Given the description of an element on the screen output the (x, y) to click on. 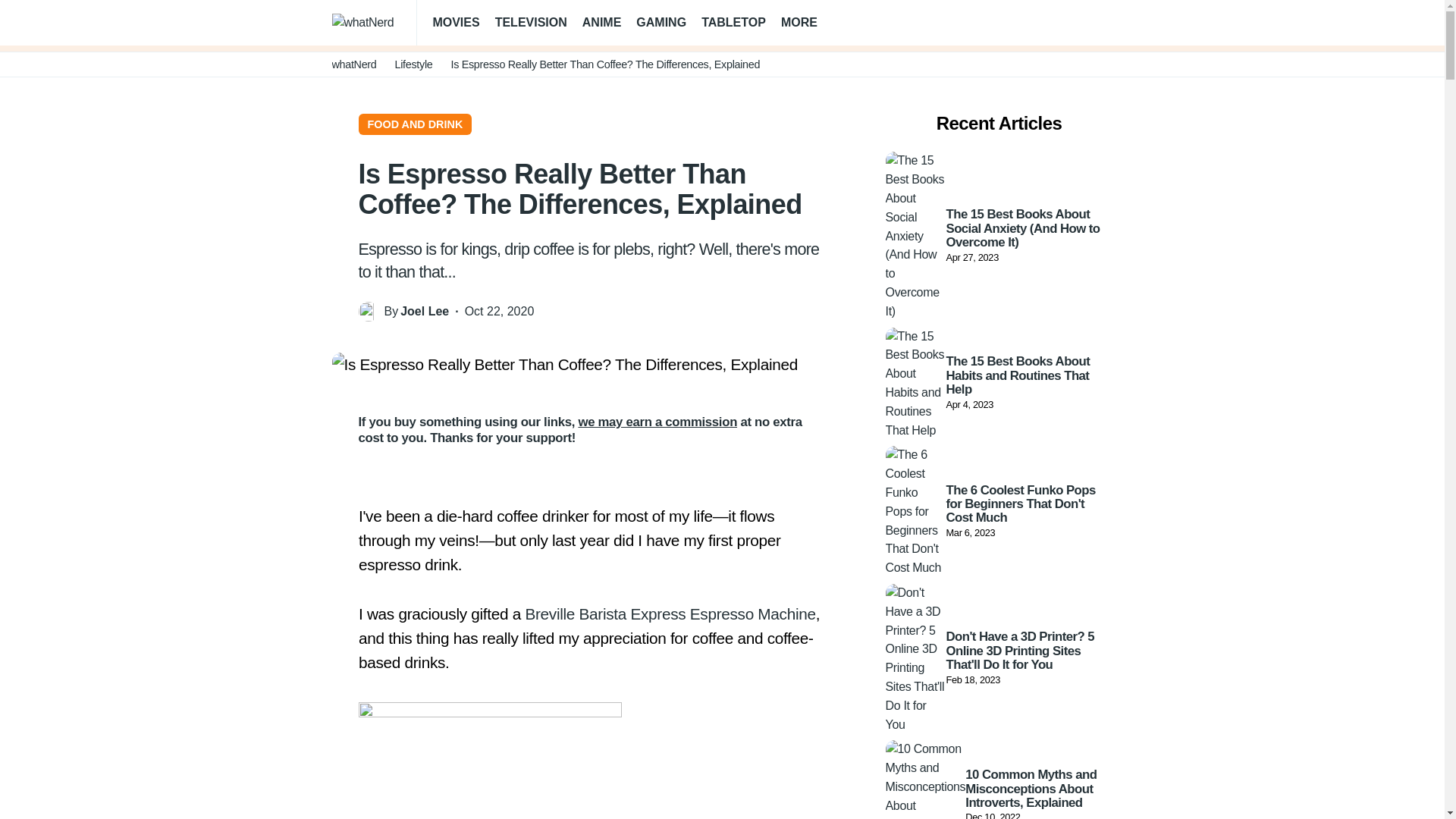
MOVIES (455, 22)
whatNerd (354, 64)
View all posts by Joel Lee (424, 311)
TELEVISION (531, 22)
MORE (805, 22)
TABLETOP (733, 22)
ANIME (601, 22)
GAMING (660, 22)
